Given the description of an element on the screen output the (x, y) to click on. 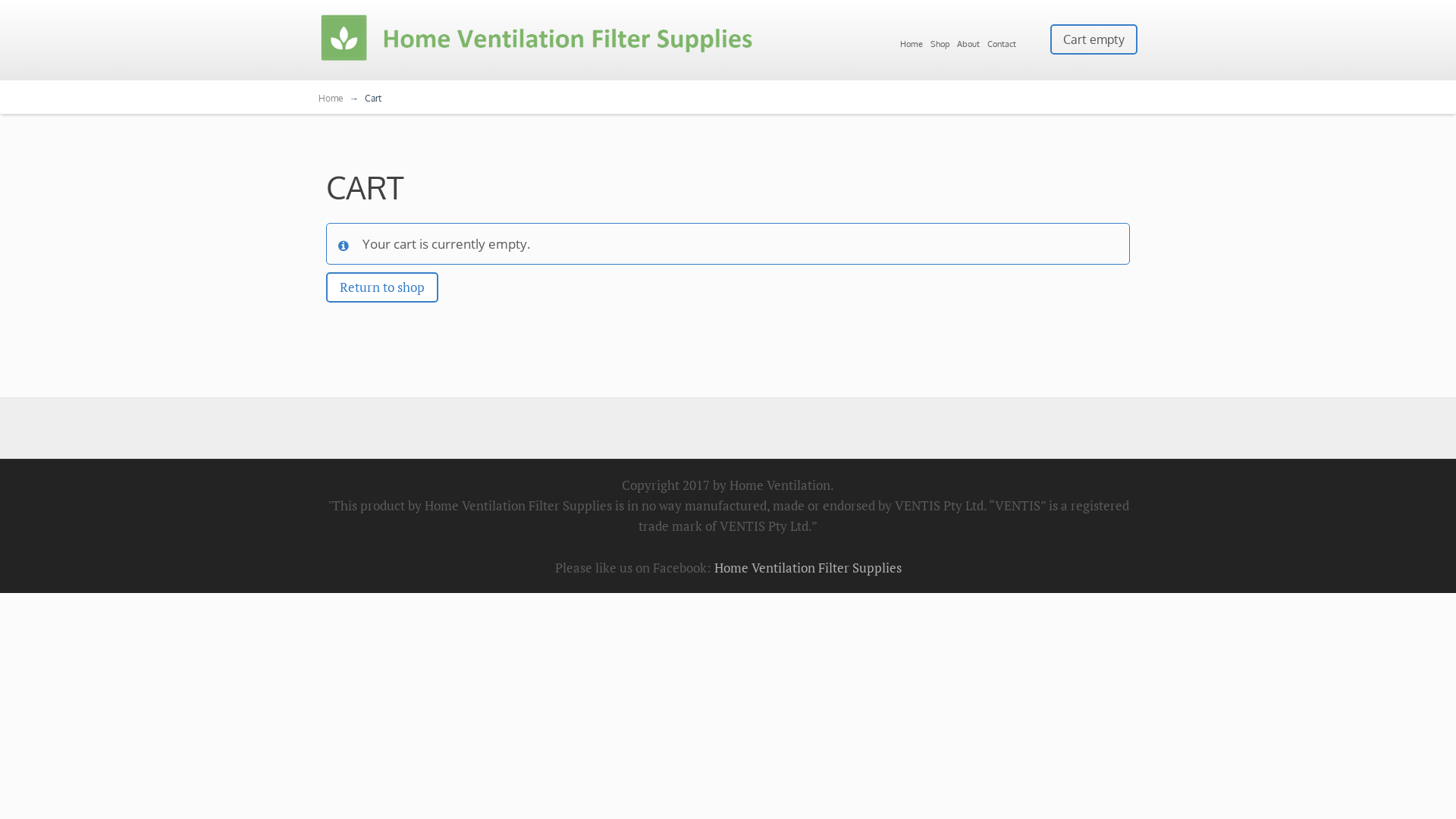
Shop Element type: text (943, 40)
Home Element type: text (330, 97)
CART Element type: text (365, 186)
About Element type: text (972, 40)
Return to shop Element type: text (382, 287)
Cart empty Element type: text (1093, 39)
Home Ventilation Filter Supplies Element type: text (807, 567)
Home Element type: text (915, 40)
Contact Element type: text (1005, 40)
